Given the description of an element on the screen output the (x, y) to click on. 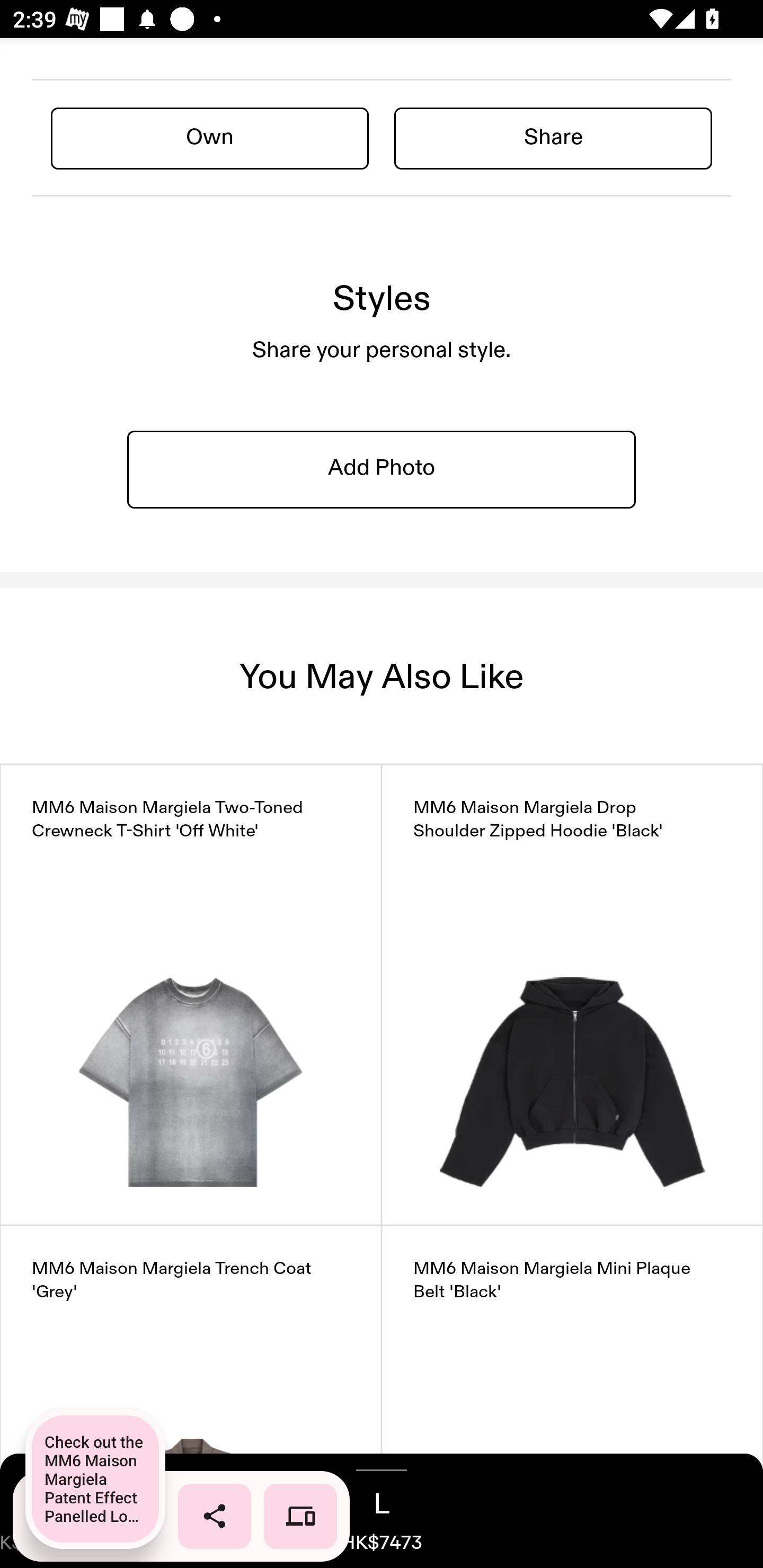
Own (209, 137)
Share (552, 137)
Add Photo (381, 468)
MM6 Maison Margiela Trench Coat 'Grey' (190, 1396)
MM6 Maison Margiela Mini Plaque Belt 'Black' (572, 1396)
L HK$7473 (381, 1510)
